Given the description of an element on the screen output the (x, y) to click on. 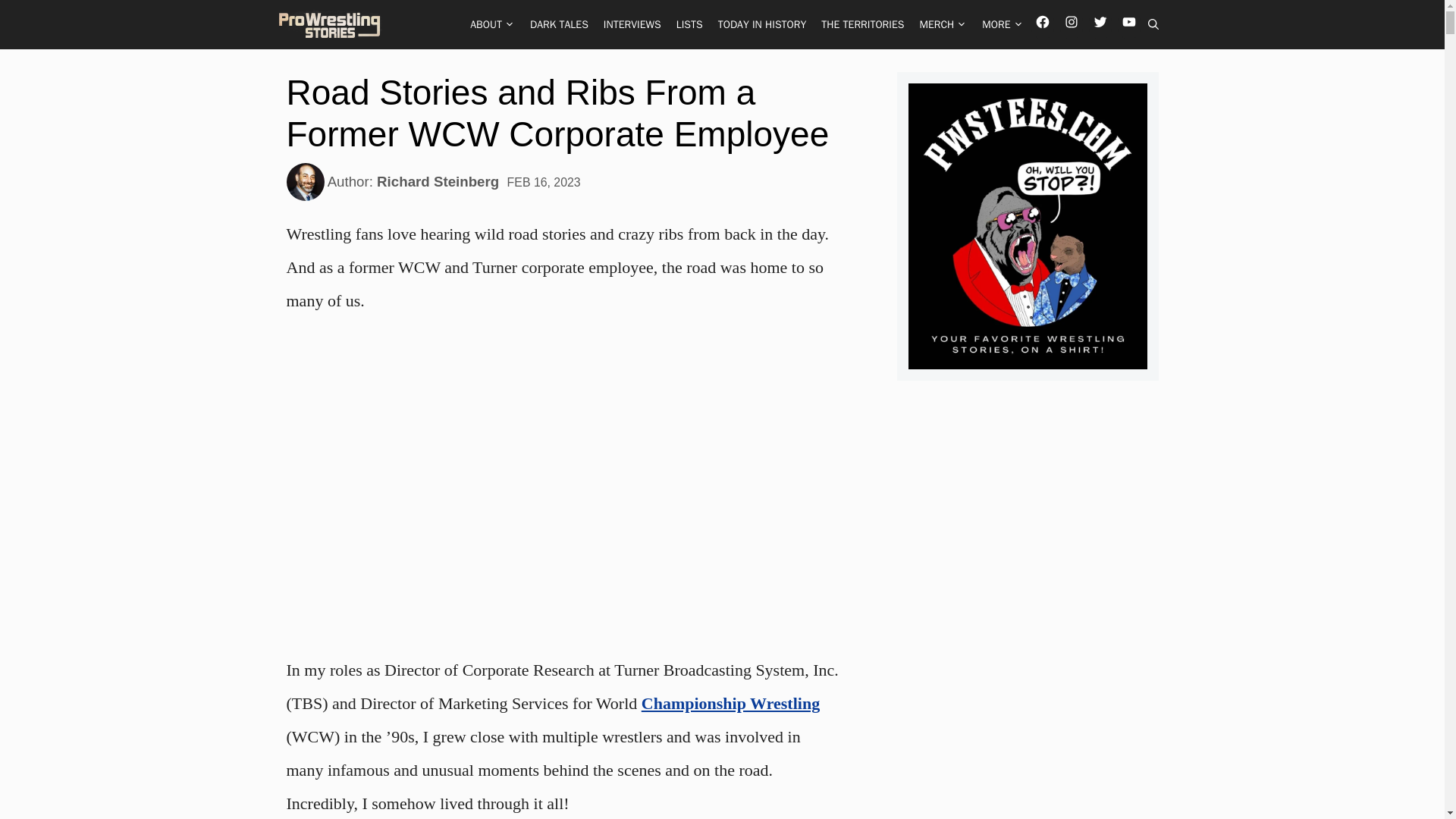
Pro Wrestling Stories (330, 24)
View all posts by Richard Steinberg (438, 181)
Mystery of Missing Wrestling Championship Belts (730, 702)
